Given the description of an element on the screen output the (x, y) to click on. 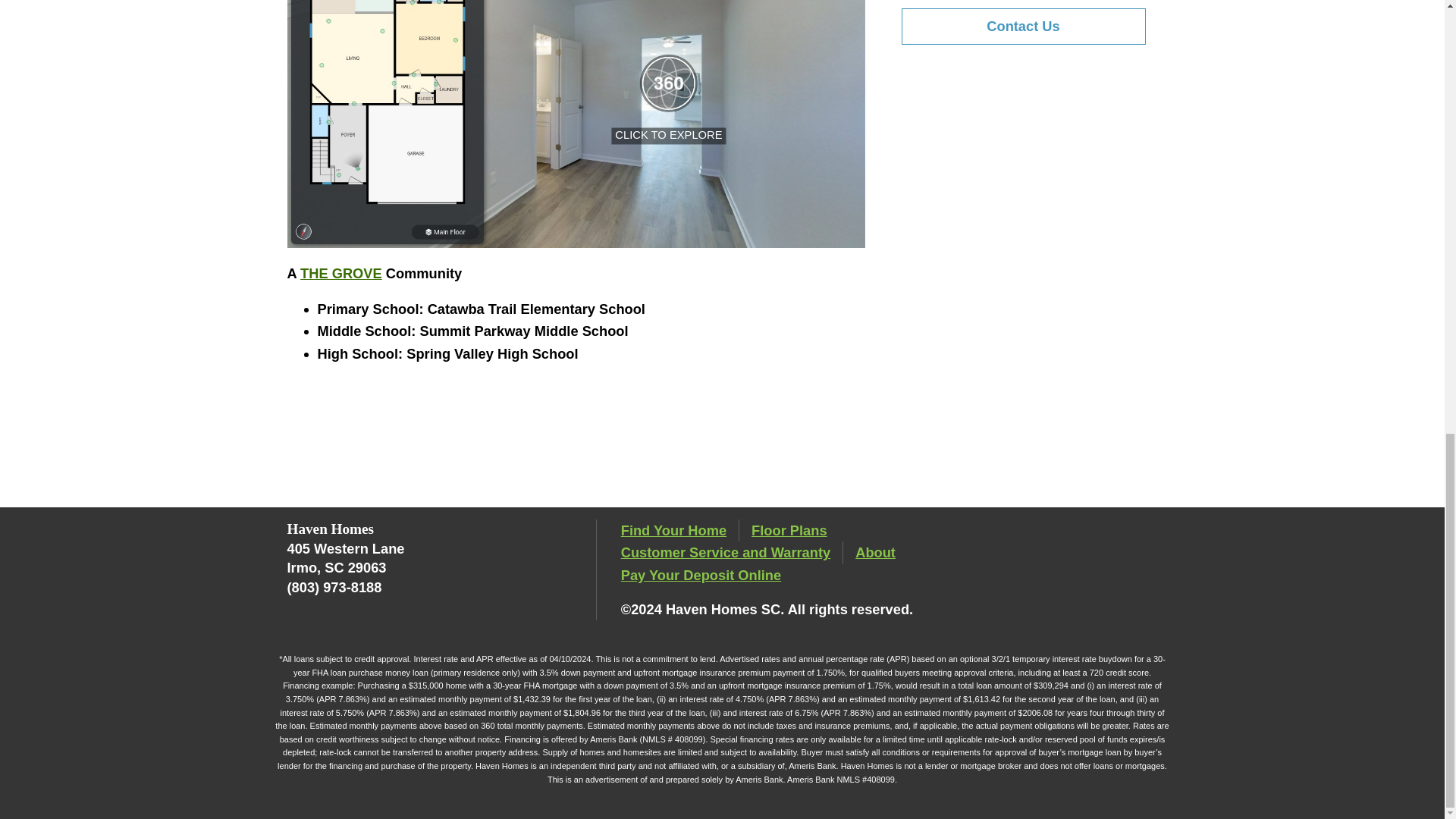
About (875, 552)
Find Your Home (673, 530)
Customer Service and Warranty (725, 552)
Floor Plans (789, 530)
THE GROVE (340, 273)
Contact Us (1022, 26)
Pay Your Deposit Online (700, 575)
